Given the description of an element on the screen output the (x, y) to click on. 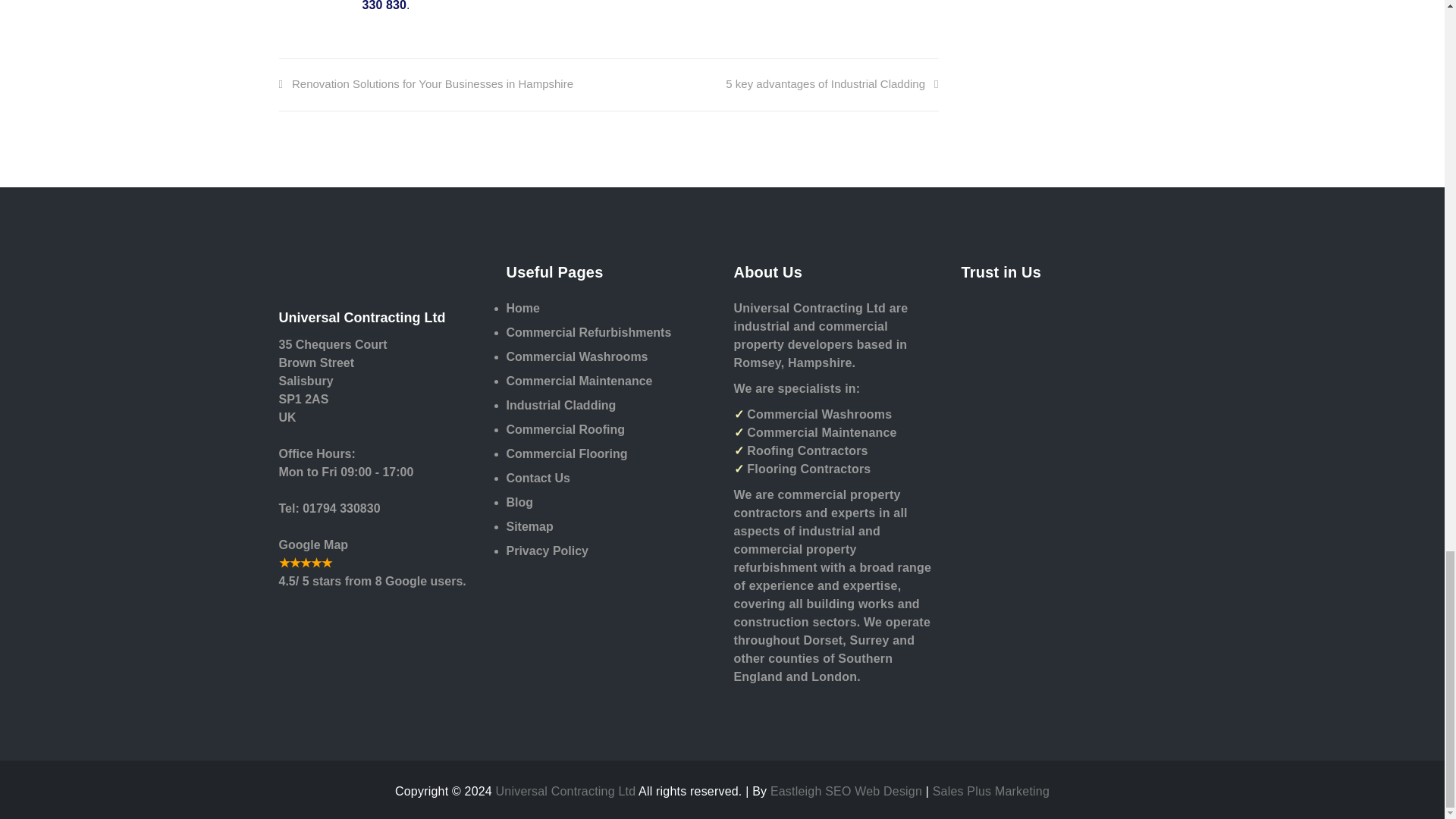
Google Map (314, 543)
Home (608, 311)
Sitemap (608, 529)
Commercial Maintenance (608, 384)
Commercial Washrooms (608, 360)
Renovation Solutions for Your Businesses in Hampshire (426, 83)
Commercial Roofing (608, 432)
Industrial Cladding (608, 408)
Renovation Solutions for Your Businesses in Hampshire (426, 83)
Contact Us (608, 481)
Home (608, 311)
Commercial Refurbishments (608, 335)
Commercial Flooring (608, 457)
5 key advantages of Industrial Cladding (831, 83)
Blog (608, 505)
